Given the description of an element on the screen output the (x, y) to click on. 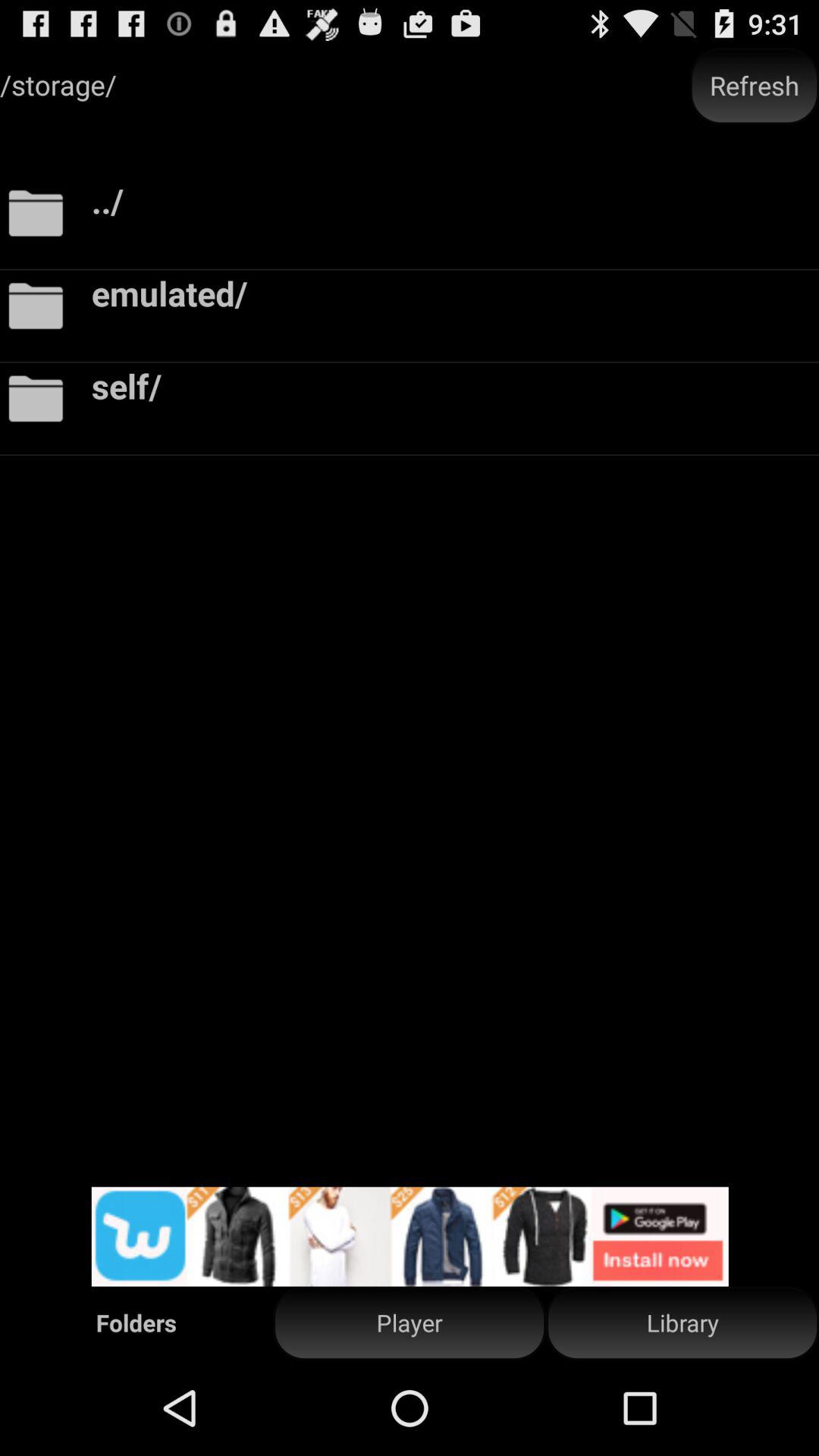
advertisement banner (409, 1236)
